Given the description of an element on the screen output the (x, y) to click on. 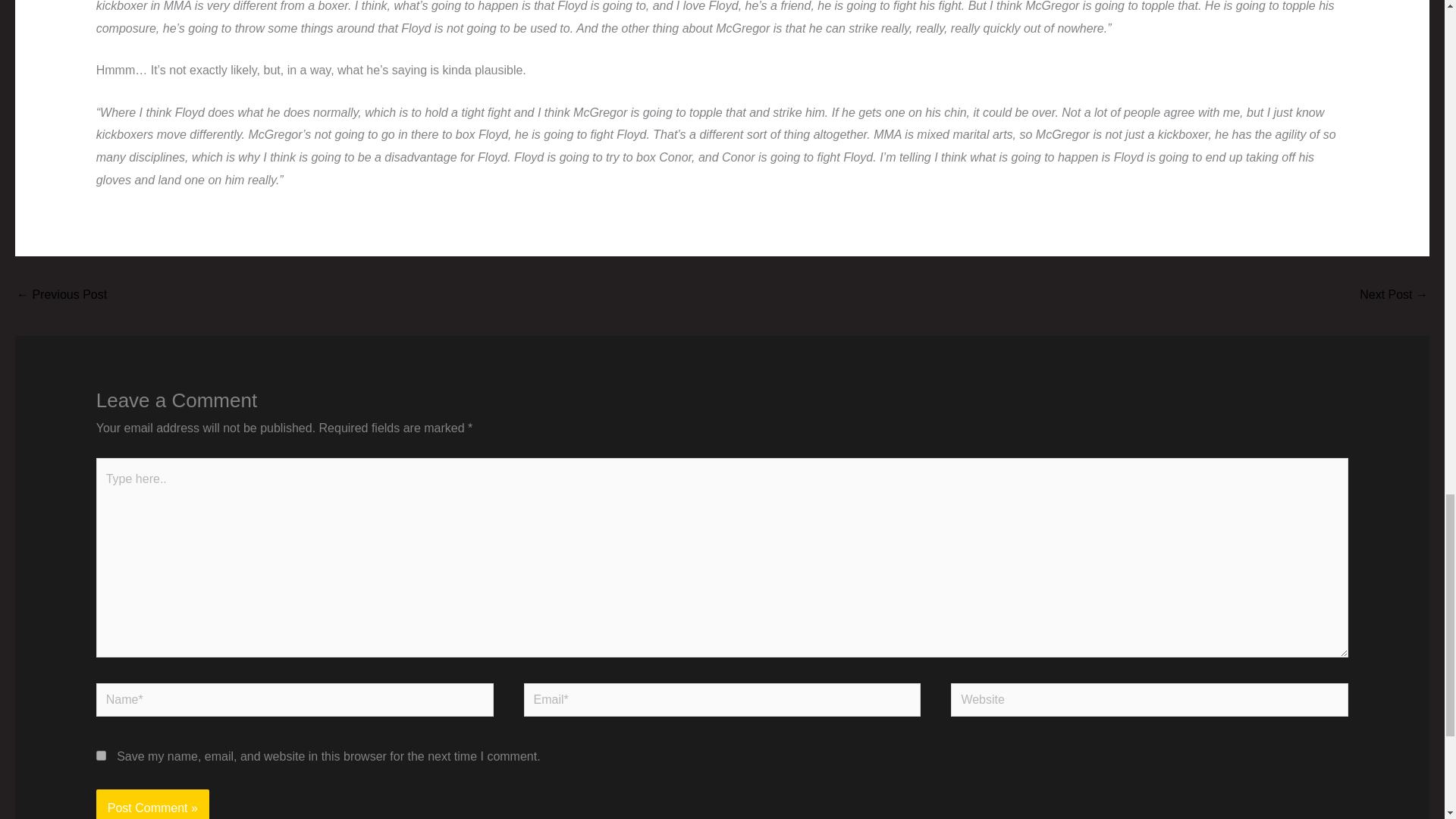
yes (101, 755)
Jon Jones Doesn't Want To Fight "Unknown" Stipe Miocic (61, 295)
